Given the description of an element on the screen output the (x, y) to click on. 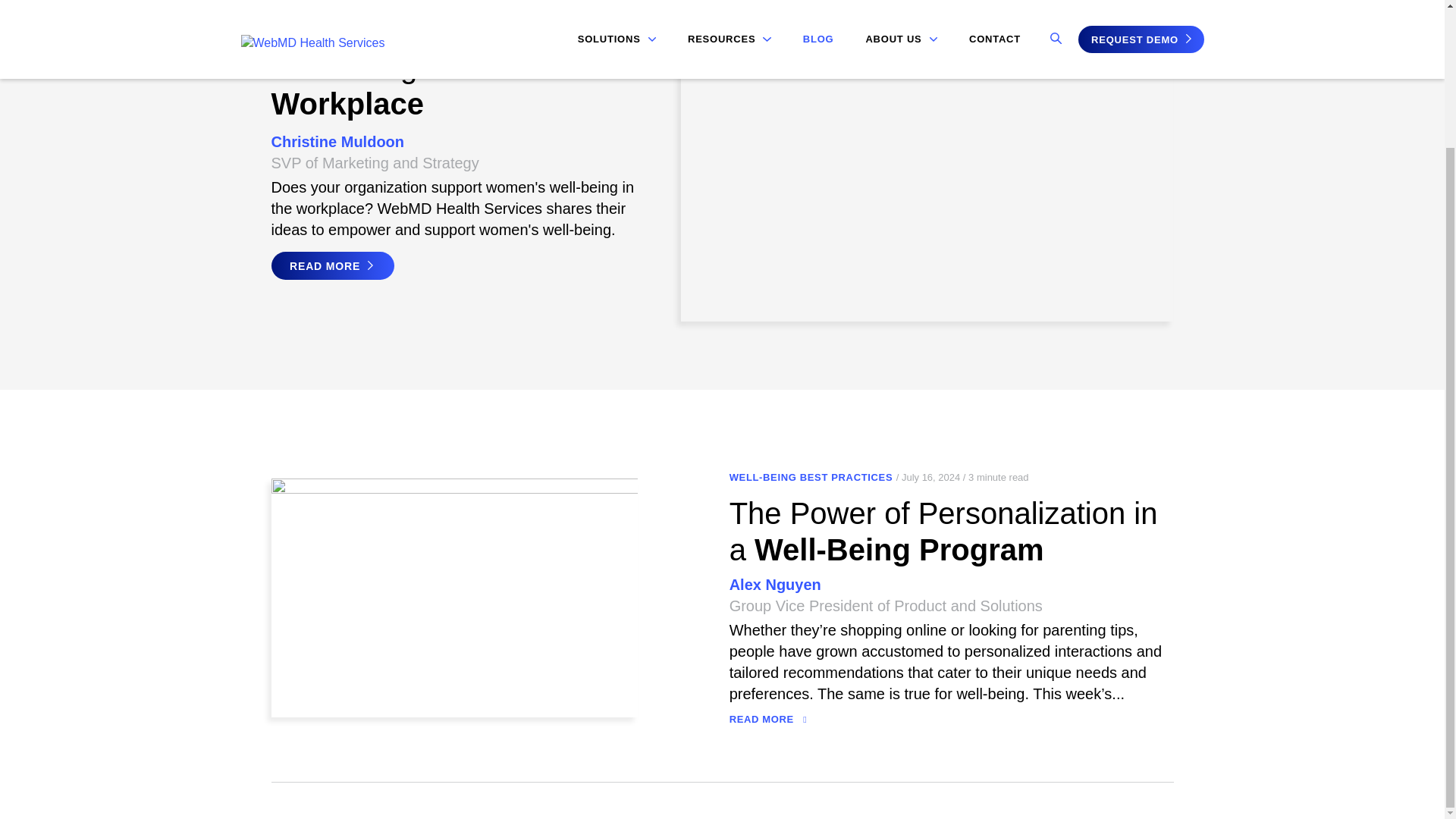
READ MORE (768, 719)
The Power of Personalization in a Well-Being Program (943, 531)
Posts by Christine Muldoon (337, 141)
Posts by Alex Nguyen (775, 584)
Ways To Support Women's Well-Being in the Workplace (451, 67)
Christine Muldoon (337, 141)
READ MORE (332, 265)
Alex Nguyen (775, 584)
WELL-BEING BEST PRACTICES (811, 477)
